Given the description of an element on the screen output the (x, y) to click on. 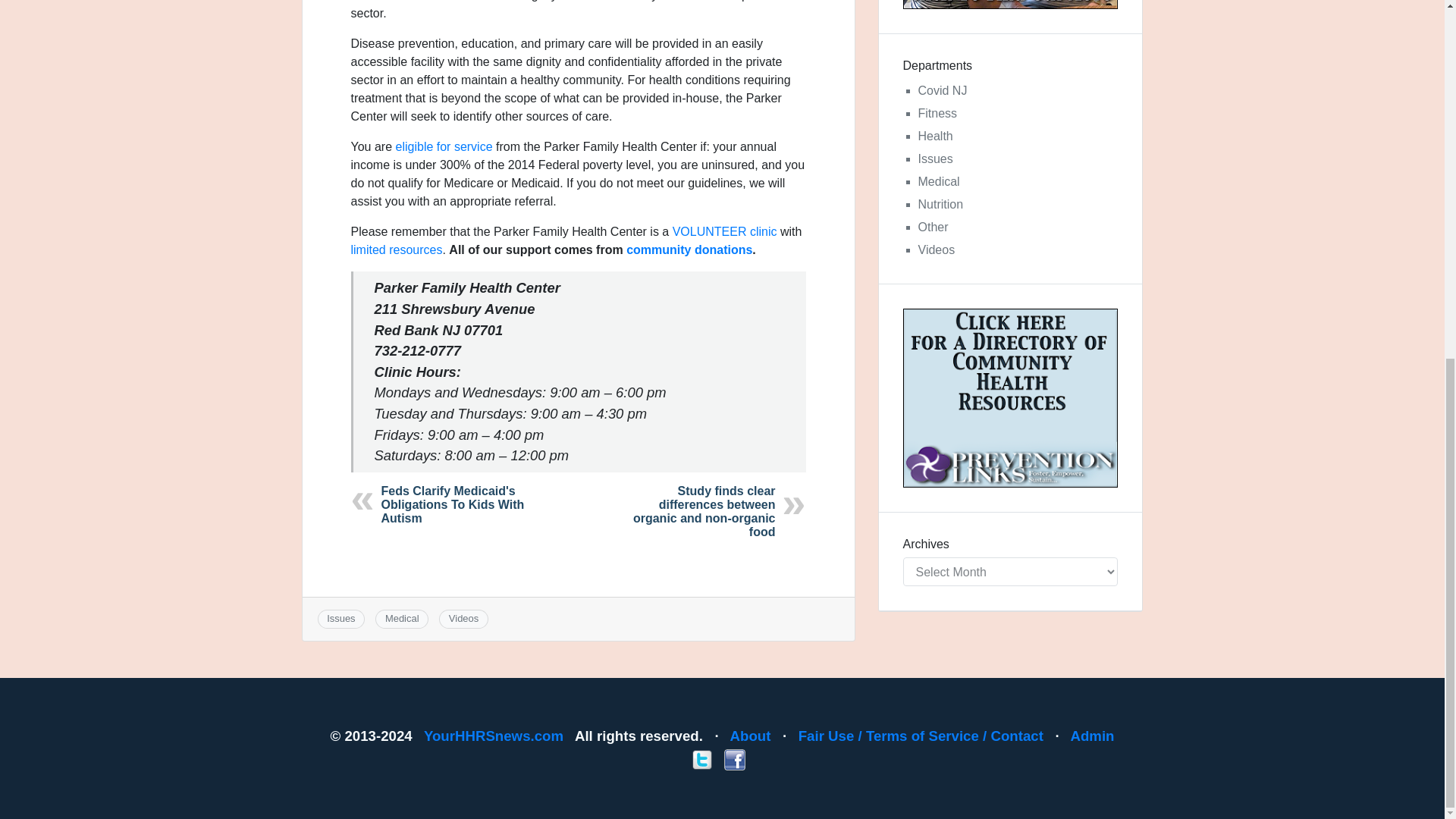
limited resources (396, 249)
Fitness (936, 113)
Covid NJ (941, 90)
community donations (689, 249)
Issues (340, 618)
Medical (402, 618)
Feds Clarify Medicaid's Obligations To Kids With Autism (452, 504)
eligible for service (444, 146)
VOLUNTEER clinic (724, 231)
Videos (463, 618)
